Given the description of an element on the screen output the (x, y) to click on. 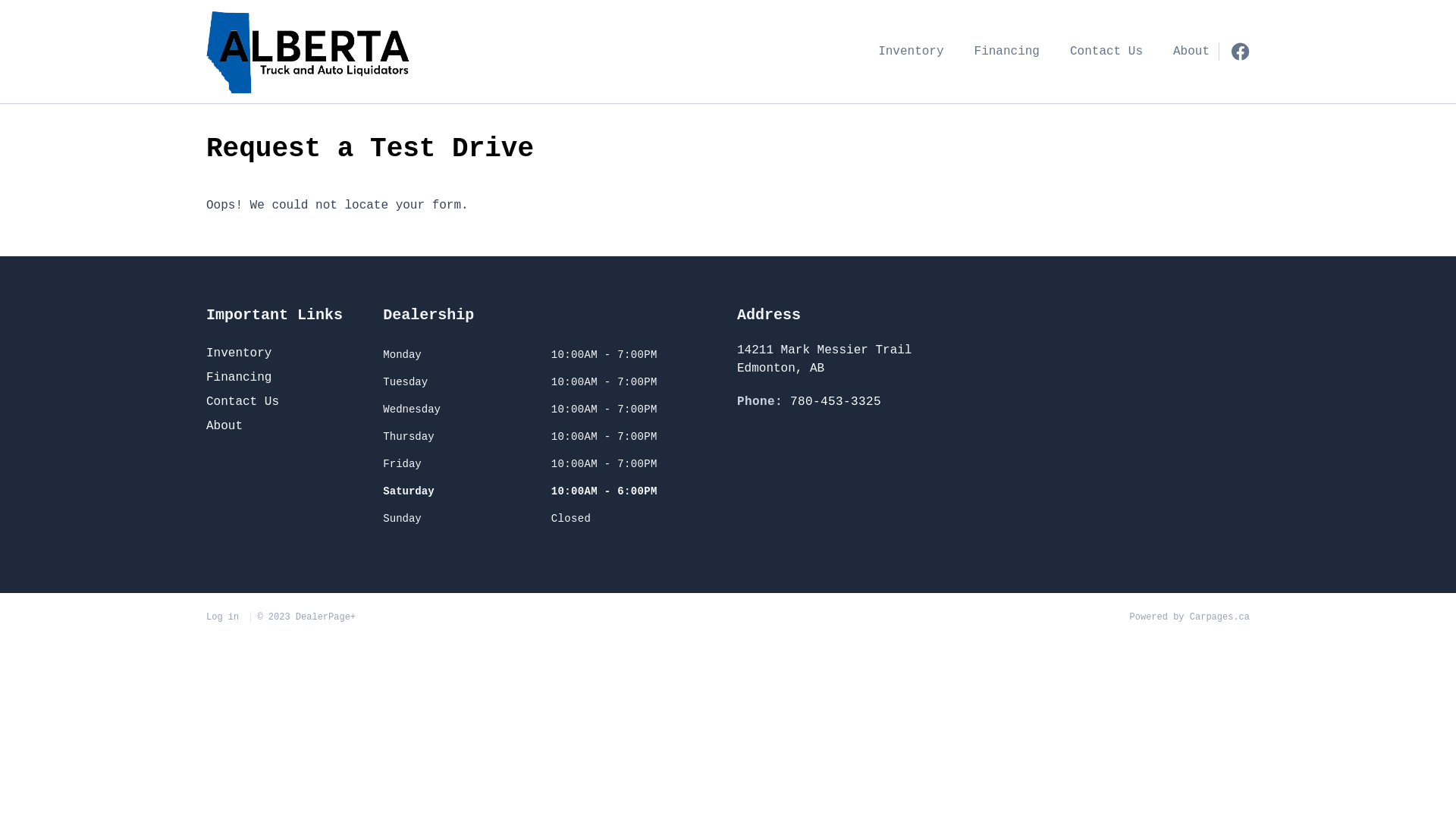
Powered by Carpages.ca Element type: text (1189, 617)
Contact Us Element type: text (242, 401)
Contact Us Element type: text (1106, 51)
14211 Mark Messier Trail
Edmonton,
Edmonton
AB Element type: text (860, 359)
Inventory Element type: text (238, 353)
Financing Element type: text (238, 377)
Log in Element type: text (225, 616)
About Element type: text (1191, 51)
780-453-3325 Element type: text (835, 401)
About Element type: text (224, 426)
Financing Element type: text (1006, 51)
Inventory Element type: text (910, 51)
